Given the description of an element on the screen output the (x, y) to click on. 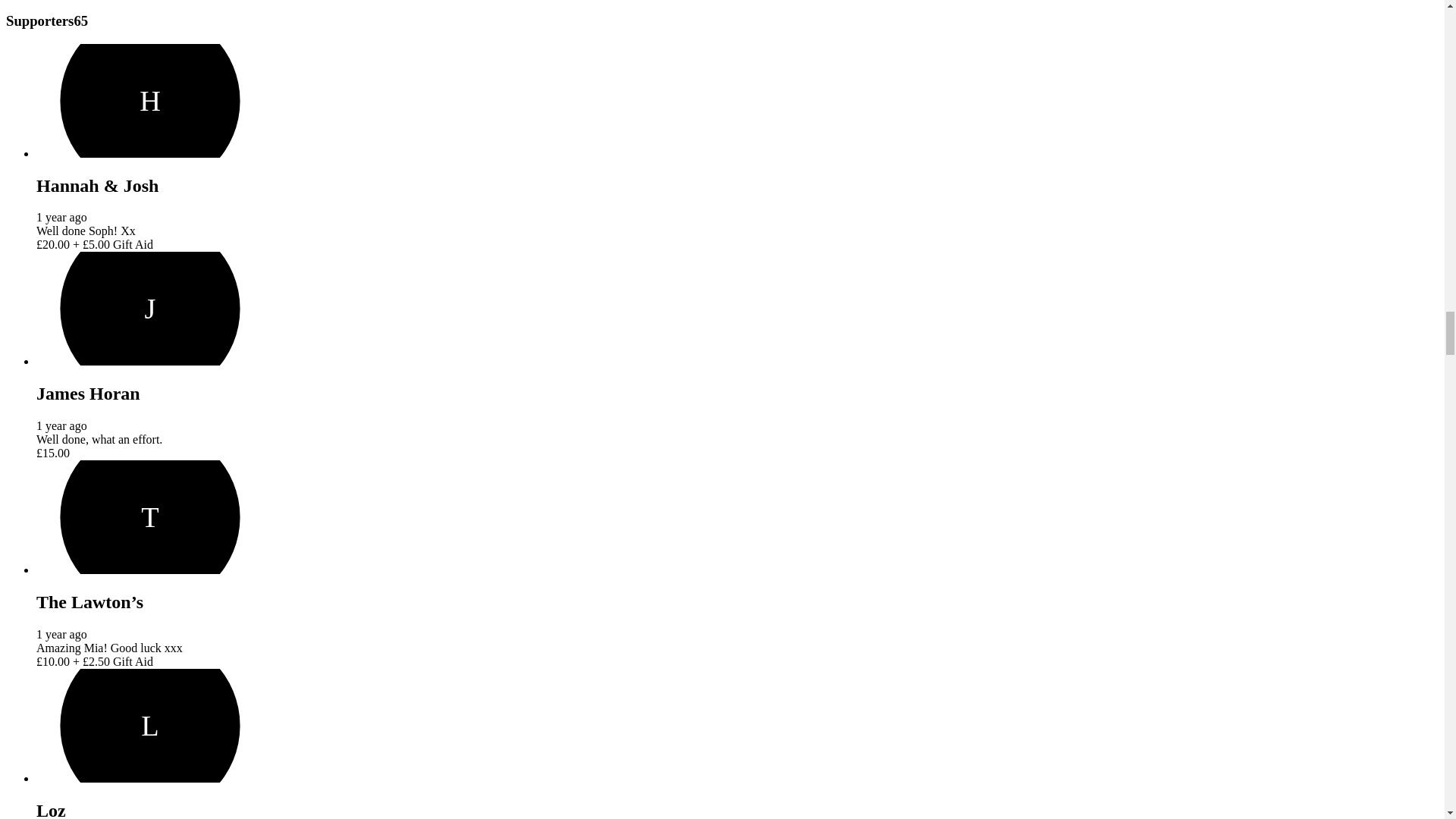
H (149, 101)
J (149, 308)
T (149, 517)
L (149, 725)
